Given the description of an element on the screen output the (x, y) to click on. 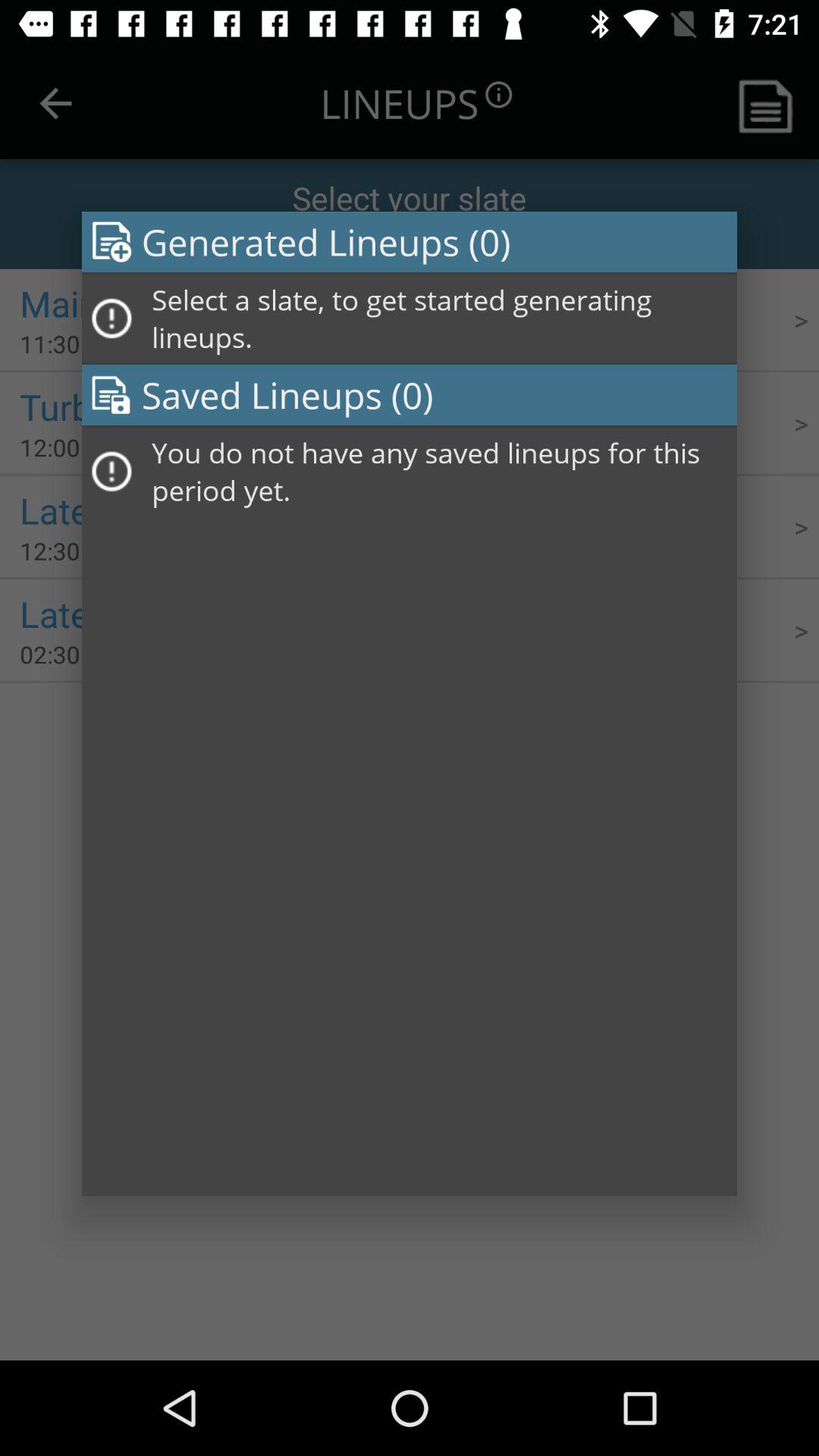
select the icon below the generated lineups (0) icon (438, 318)
